Given the description of an element on the screen output the (x, y) to click on. 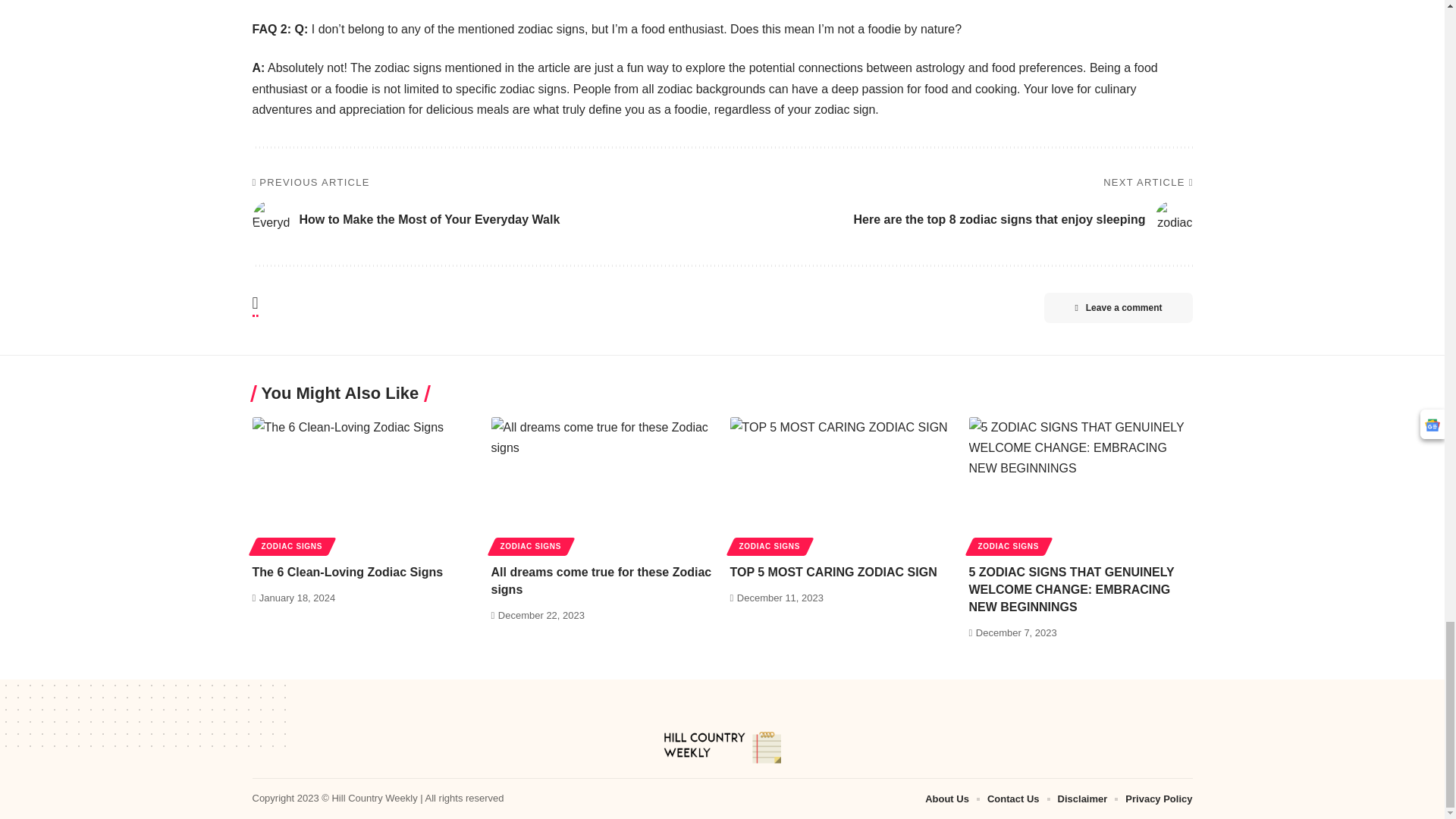
The 6 Clean-Loving Zodiac Signs (363, 483)
TOP 5 MOST CARING ZODIAC SIGN (841, 483)
Hill Country Weekly (721, 747)
All dreams come true for these Zodiac signs (603, 483)
